Given the description of an element on the screen output the (x, y) to click on. 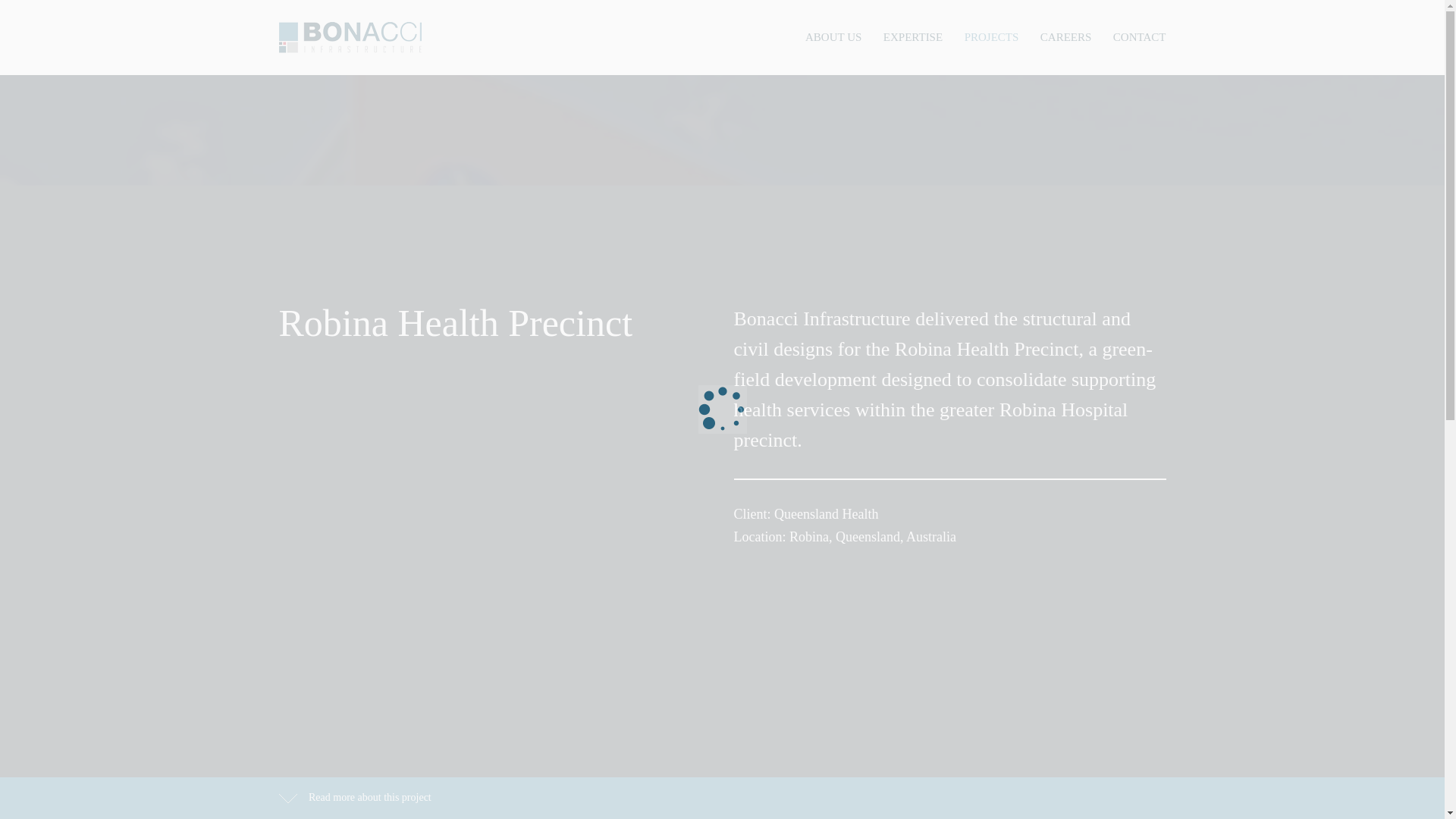
CAREERS (1066, 36)
PROJECTS (991, 36)
Read more about this project (354, 797)
ABOUT US (833, 36)
EXPERTISE (912, 36)
CONTACT (1139, 36)
